Given the description of an element on the screen output the (x, y) to click on. 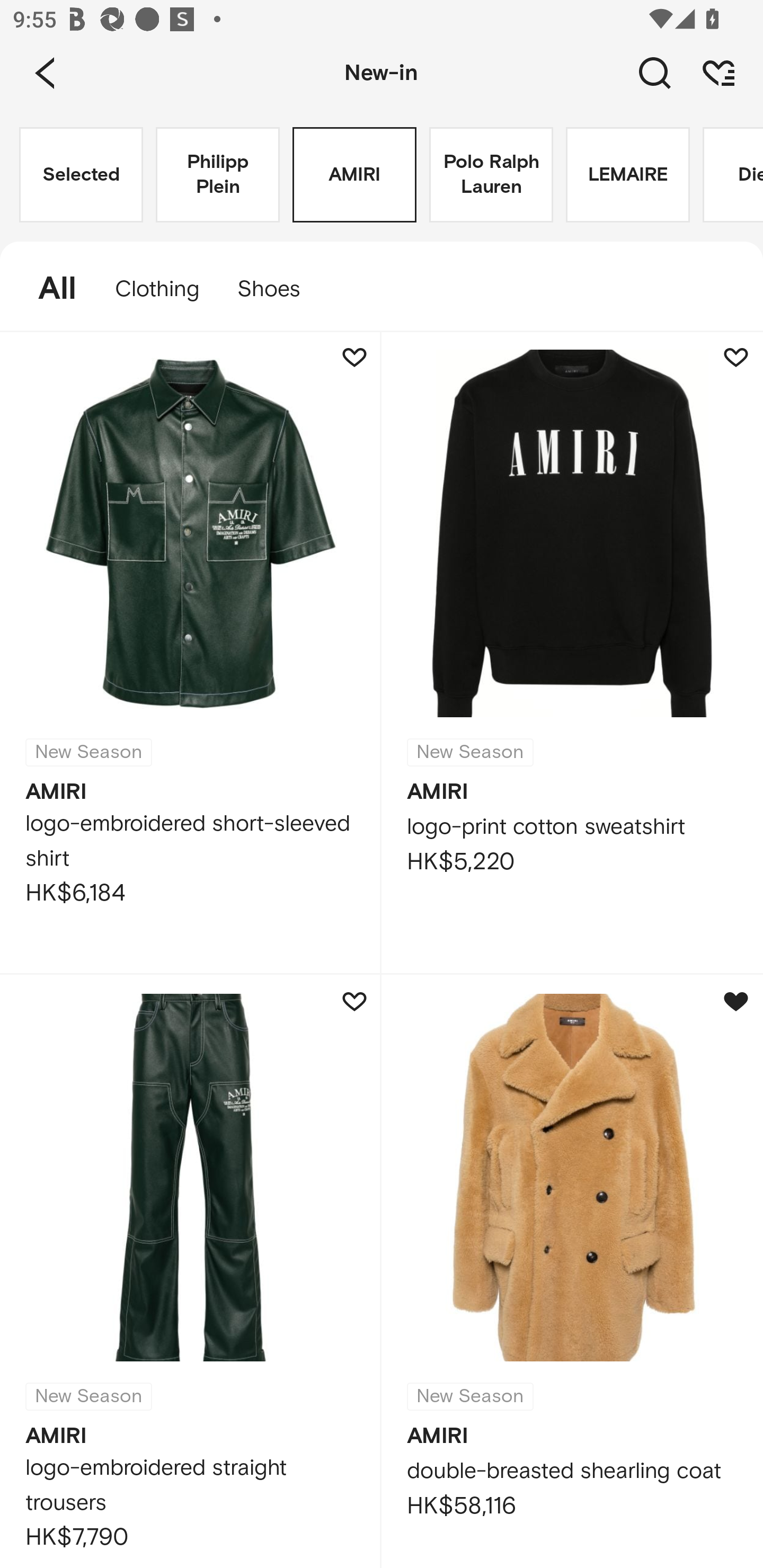
Selected (81, 174)
Philipp Plein (217, 174)
AMIRI (354, 174)
Polo Ralph Lauren (490, 174)
LEMAIRE (627, 174)
All (47, 288)
Clothing (156, 288)
Shoes (278, 288)
